Given the description of an element on the screen output the (x, y) to click on. 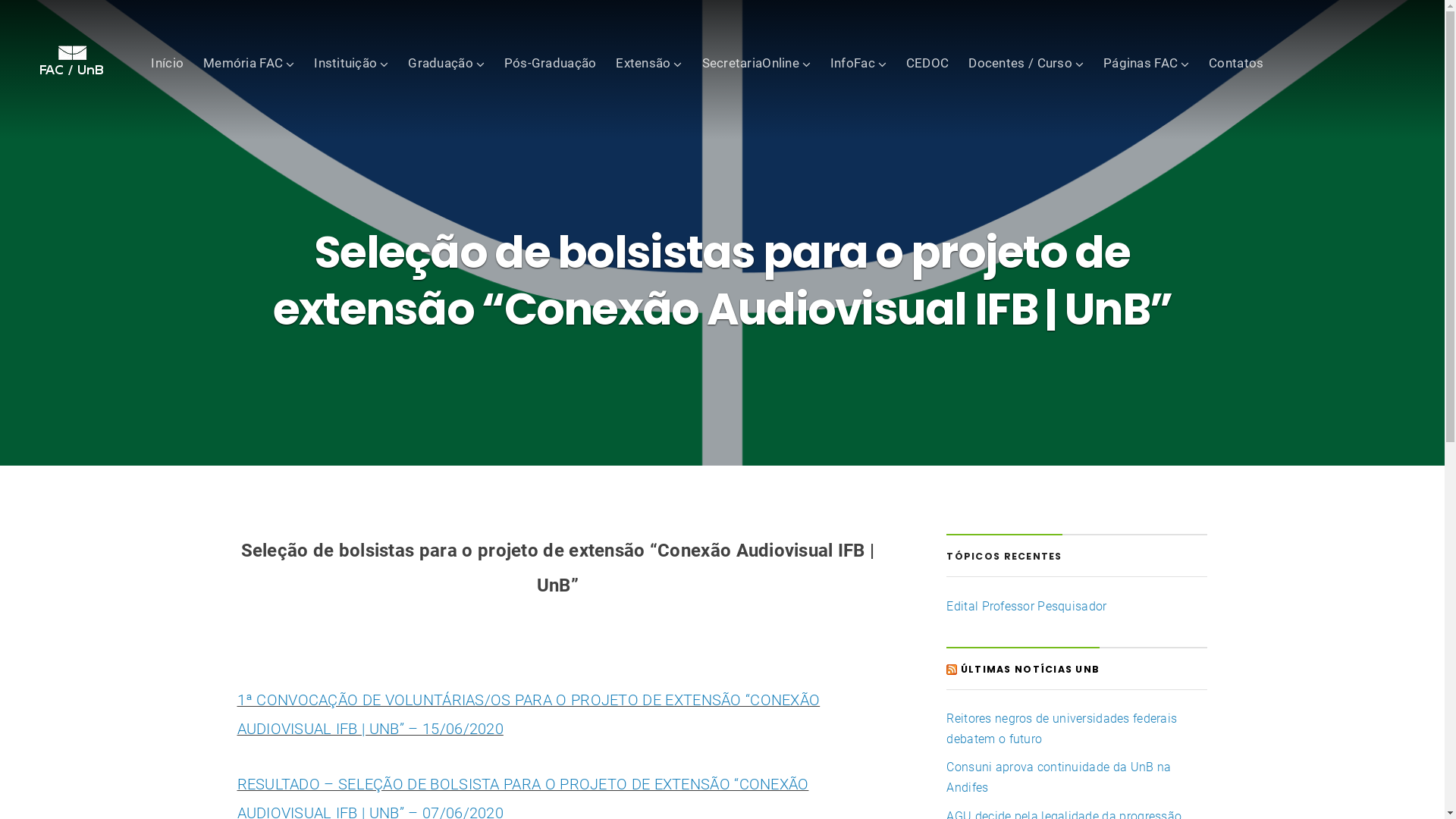
Reitores negros de universidades federais debatem o futuro Element type: text (1061, 728)
Edital Professor Pesquisador Element type: text (1026, 606)
InfoFac Element type: text (858, 61)
CEDOC Element type: text (927, 61)
Contatos Element type: text (1235, 61)
Docentes / Curso Element type: text (1025, 61)
Consuni aprova continuidade da UnB na Andifes Element type: text (1058, 776)
SecretariaOnline Element type: text (756, 61)
